Given the description of an element on the screen output the (x, y) to click on. 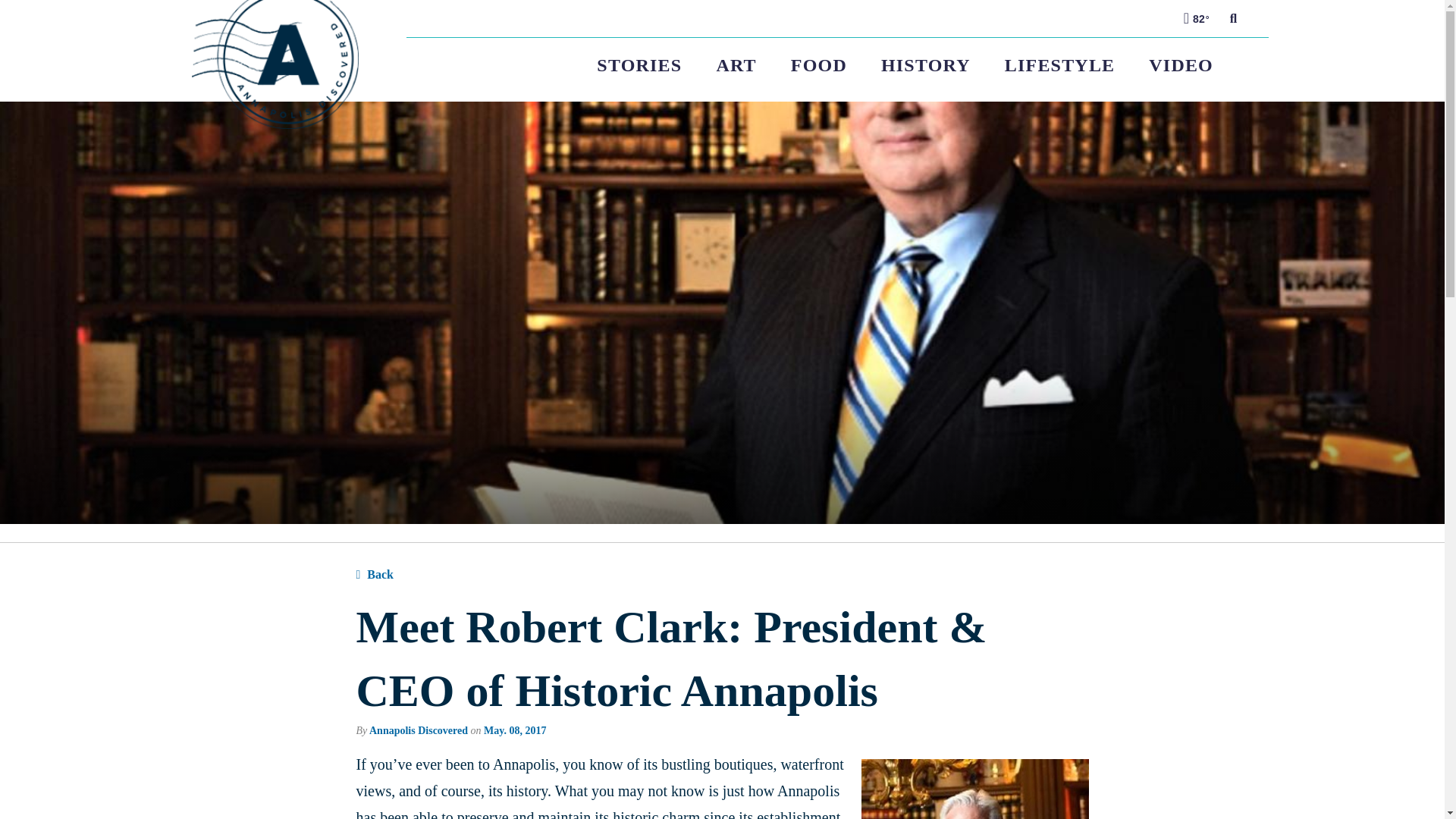
VIDEO (1181, 65)
Annapolis Discovered (418, 730)
FOOD (818, 65)
HISTORY (925, 65)
STORIES (647, 65)
ART (735, 65)
Back (375, 574)
LIFESTYLE (1059, 65)
